Given the description of an element on the screen output the (x, y) to click on. 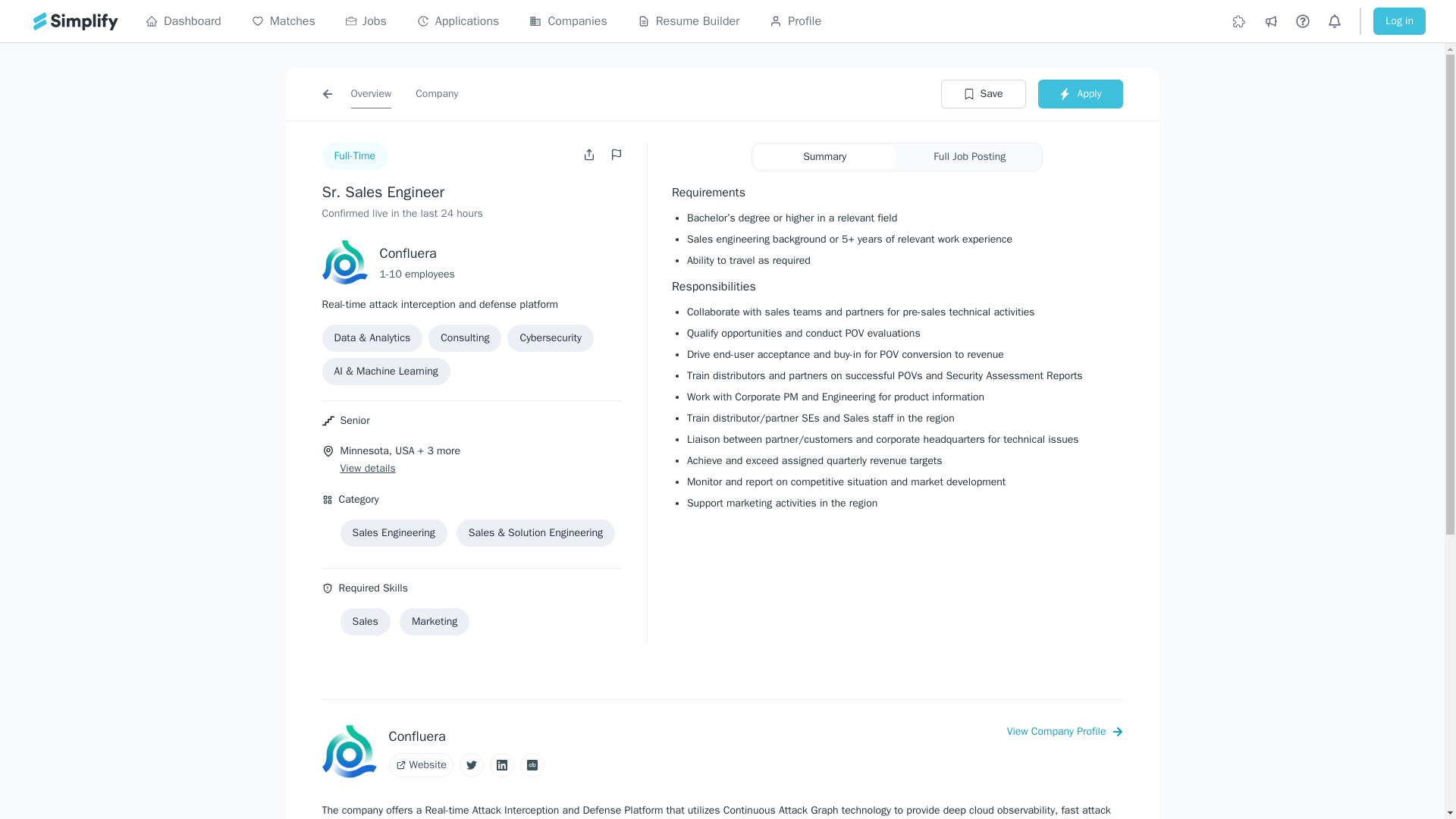
Full Job Posting (969, 156)
Open user menu (590, 154)
Log in (1399, 21)
Save (982, 93)
Summary (824, 156)
Jobs (366, 21)
Dashboard (183, 21)
Companies (568, 21)
View Company Profile (1064, 731)
Apply (1079, 93)
Website (420, 764)
Matches (283, 21)
Company (436, 93)
Applications (457, 21)
View details (366, 468)
